Given the description of an element on the screen output the (x, y) to click on. 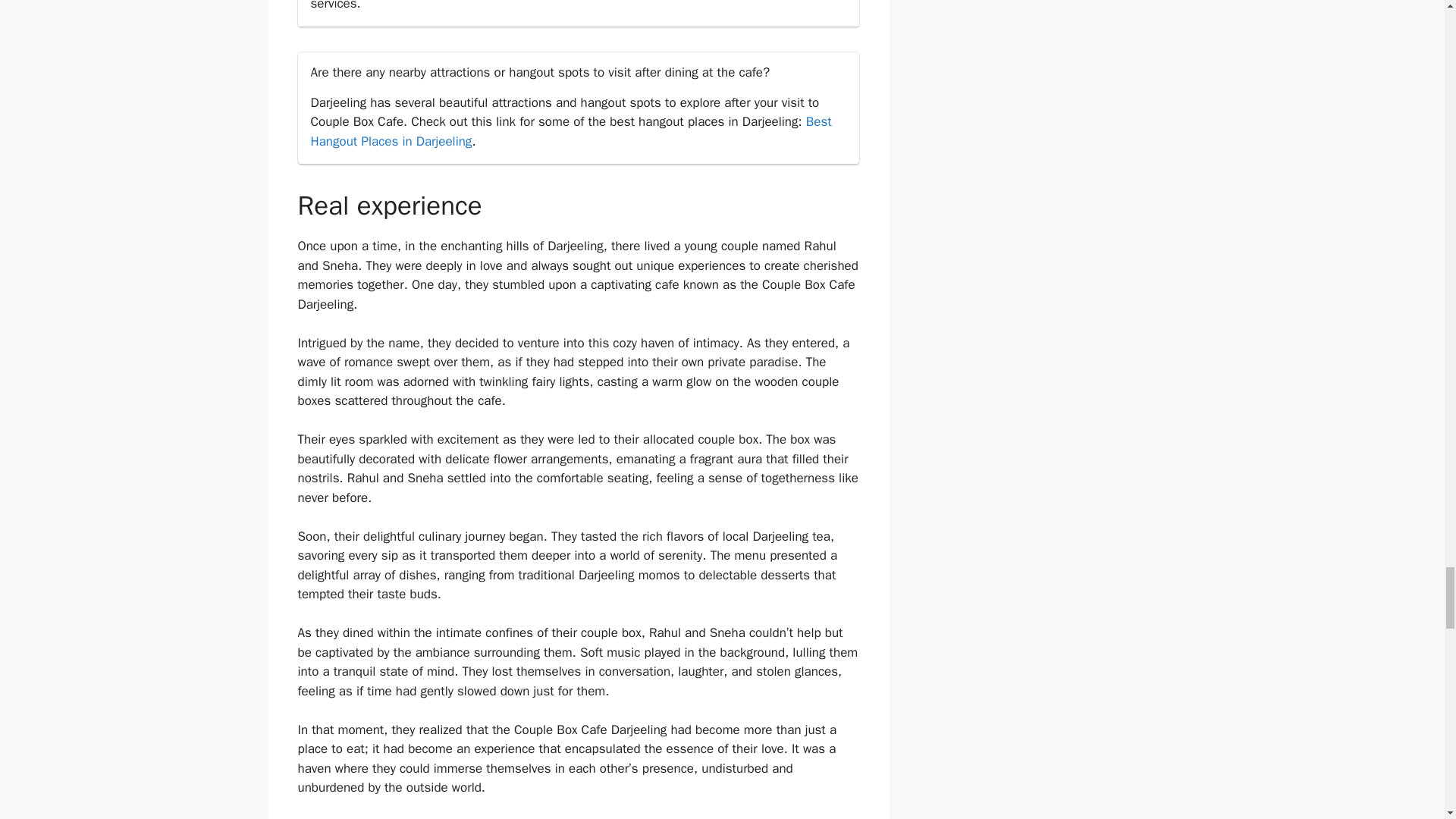
Best Hangout Places in Darjeeling (571, 131)
